Given the description of an element on the screen output the (x, y) to click on. 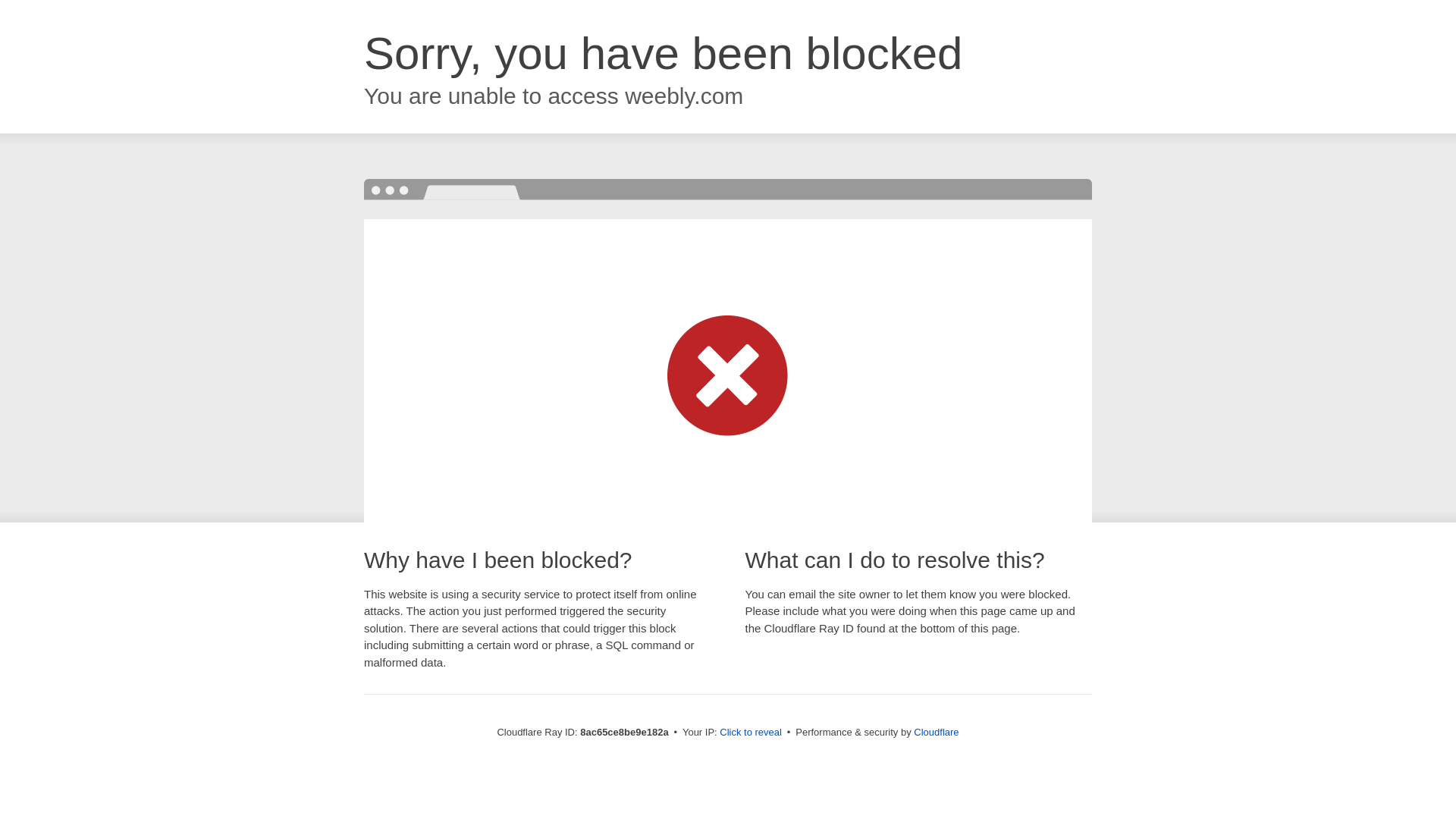
Cloudflare (936, 731)
Click to reveal (750, 732)
